Given the description of an element on the screen output the (x, y) to click on. 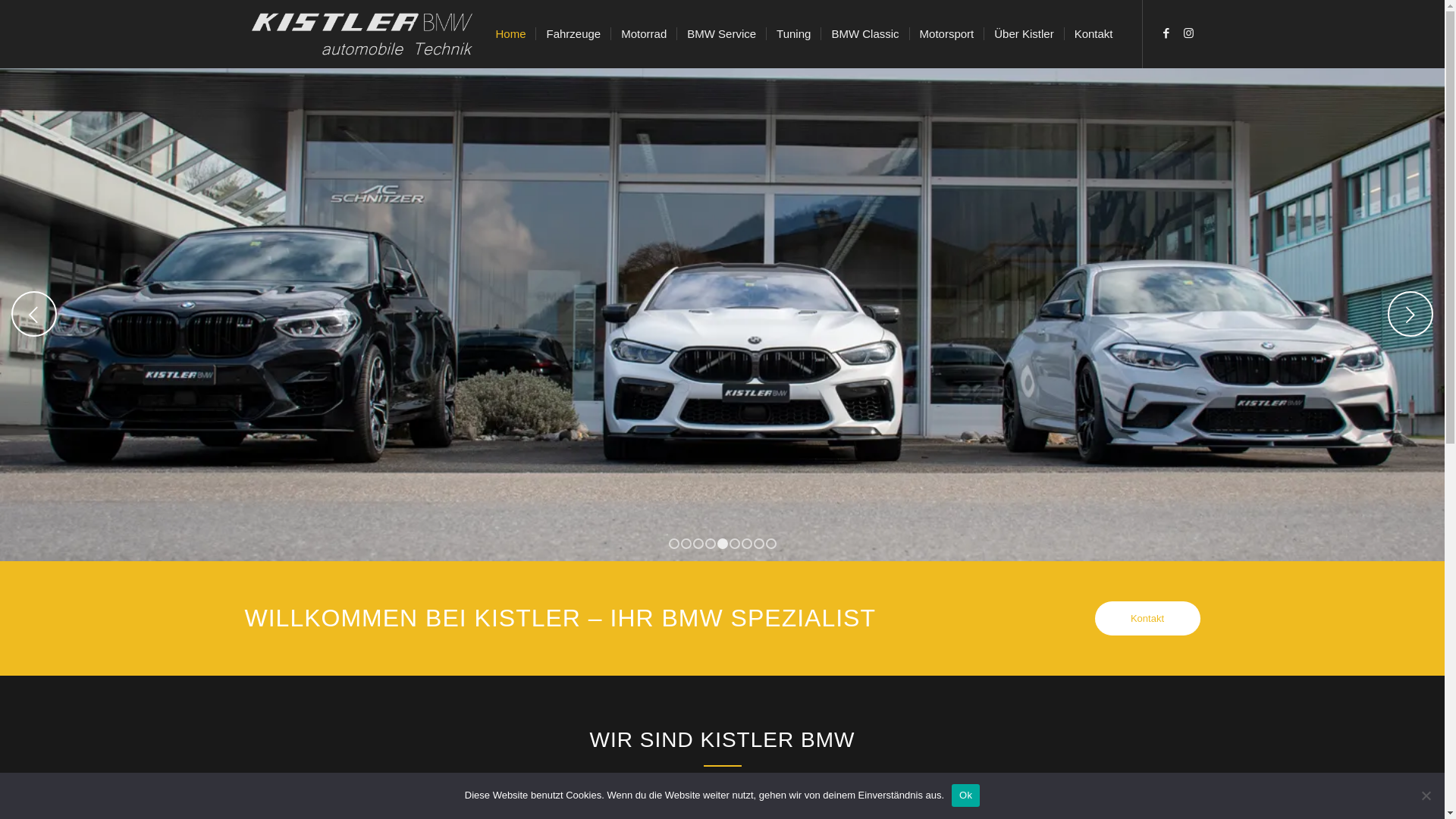
Ok Element type: text (965, 795)
No Element type: hover (1425, 795)
Motorsport Element type: text (946, 34)
BMW Classic Element type: text (864, 34)
Fahrzeuge Element type: text (572, 34)
7 Element type: text (746, 543)
Tuning Element type: text (792, 34)
Instagram Element type: hover (1187, 32)
Kontakt Element type: text (1093, 34)
5 Element type: text (722, 543)
Facebook Element type: hover (1165, 32)
1 Element type: text (673, 543)
BMW Service Element type: text (720, 34)
Home Element type: text (510, 34)
Motorrad Element type: text (643, 34)
9 Element type: text (770, 543)
4 Element type: text (710, 543)
2 Element type: text (685, 543)
6 Element type: text (734, 543)
3 Element type: text (698, 543)
Kontakt Element type: text (1147, 618)
Weiter Element type: text (1410, 313)
Front kistlerbmw AC Schnitzer BMW X4M_BMW M2 _BMW M8 Element type: hover (722, 313)
8 Element type: text (758, 543)
